Given the description of an element on the screen output the (x, y) to click on. 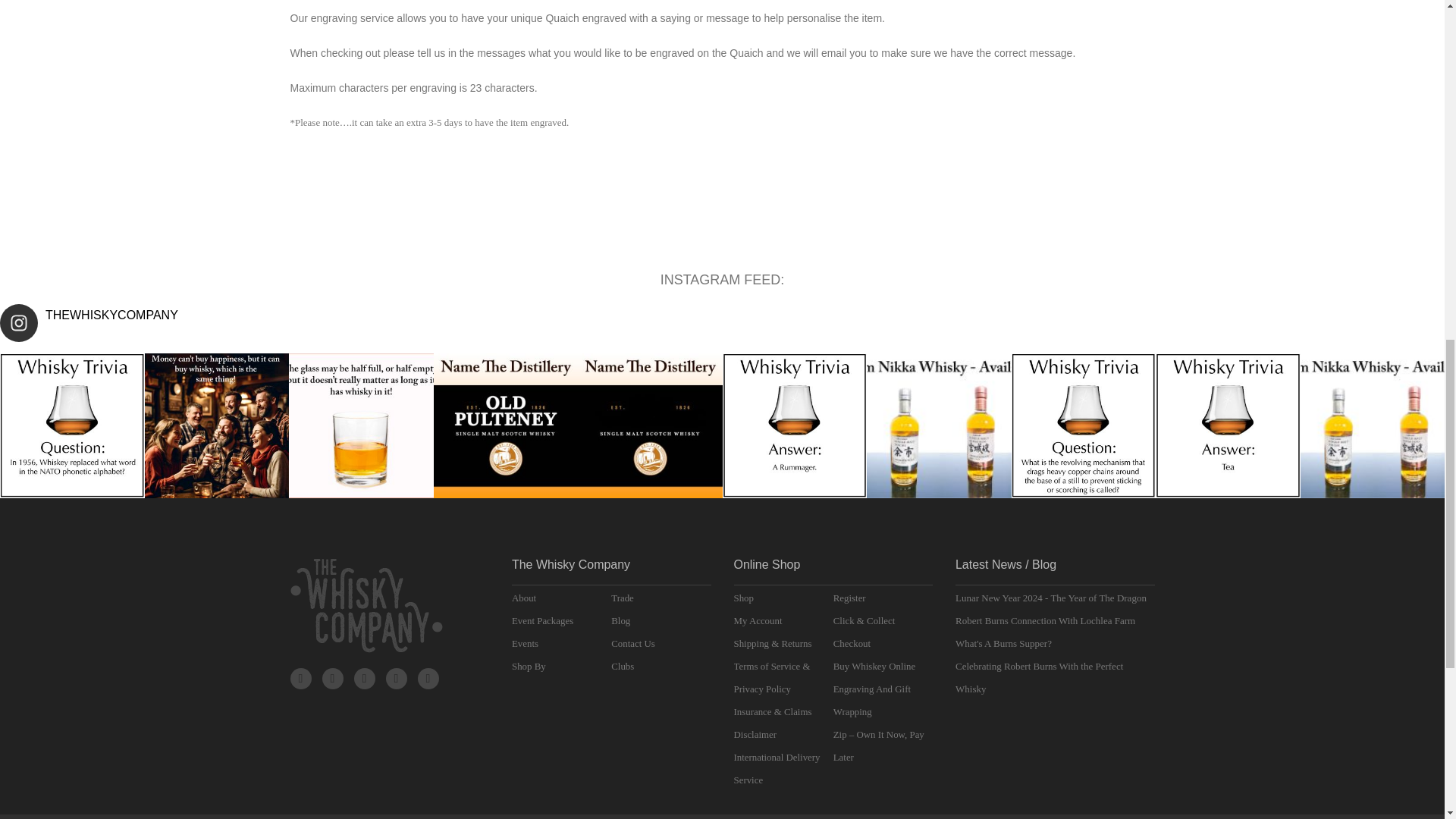
The Whiskey Company (365, 605)
